Given the description of an element on the screen output the (x, y) to click on. 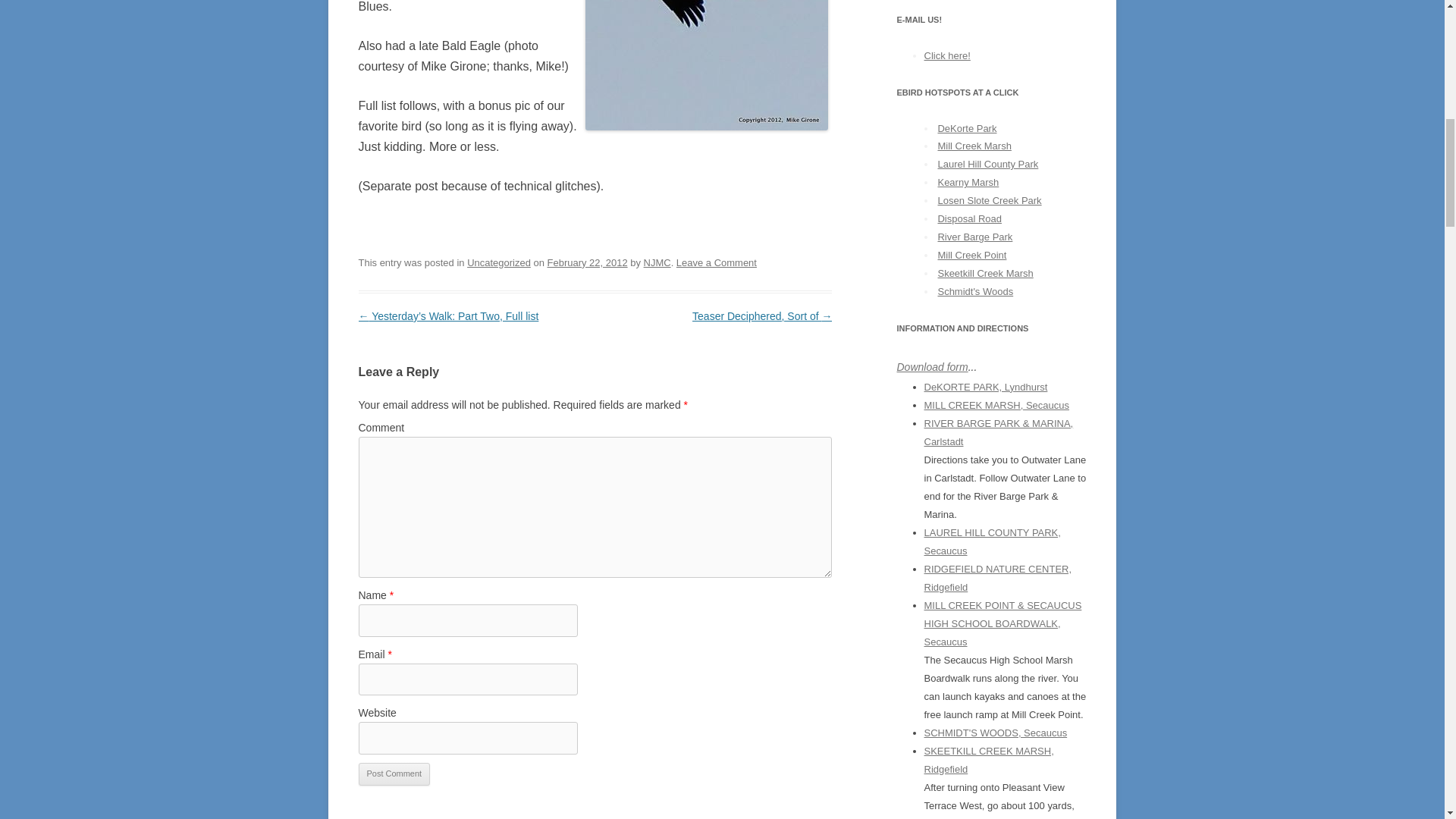
River Barge Park (974, 236)
DeKorte Park (966, 128)
February 22, 2012 (587, 262)
Losen Slote Creek Park (989, 200)
Click here! (946, 55)
5:31 am (587, 262)
NJMC (657, 262)
Mill Creek Point (971, 255)
Skeetkill Creek Marsh (984, 273)
DeKORTE PARK, Lyndhurst (984, 387)
